Given the description of an element on the screen output the (x, y) to click on. 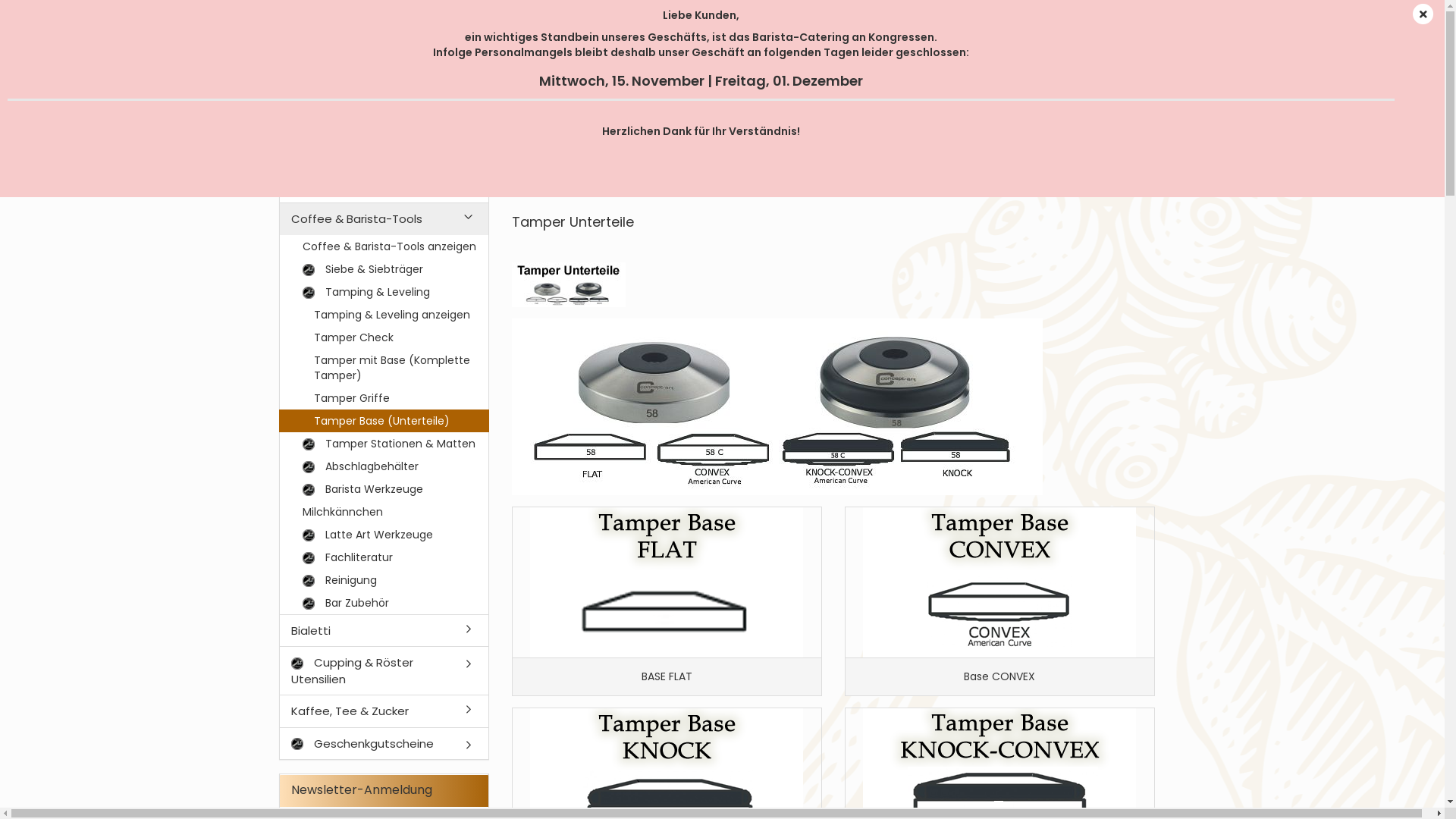
Reinigung Element type: text (383, 579)
Tamper Check Element type: text (383, 337)
Coffee & Barista-Tools Element type: text (383, 218)
Tamper Stationen & Matten Element type: text (383, 443)
GESCHENKGUTSCHEINE Element type: text (1071, 138)
Tamper Base (Unterteile) Element type: hover (568, 284)
Tamper mit Base (Komplette Tamper) Element type: text (383, 367)
Anmelden Element type: text (955, 185)
Startseite Element type: text (533, 181)
BASE FLAT Element type: text (666, 601)
Geschenkgutscheine Element type: text (383, 743)
Bialetti Element type: text (383, 630)
Coffee & Barista-Tools anzeigen Element type: text (383, 246)
BIALETTI Element type: text (638, 138)
Base CONVEX Element type: text (999, 601)
 Kundenlogin Element type: text (1037, 11)
Base CONVEX Element type: hover (998, 582)
Martin Stock Element type: hover (721, 83)
Latte Art Werkzeuge Element type: text (383, 534)
Warenkorb Element type: text (948, 11)
Tamper Griffe Element type: text (383, 397)
Coffee & Barista-Tools Element type: text (633, 181)
Tamping & Leveling Element type: text (383, 291)
BASE FLAT Element type: hover (666, 582)
Ihr Warenkorb
0,00 CHF Element type: text (1055, 75)
Barista Werkzeuge Element type: text (383, 488)
Kaffee, Tee & Zucker Element type: text (383, 710)
Tamping & Leveling anzeigen Element type: text (383, 314)
Tamping & Leveling Element type: text (757, 181)
COFFEE & BARISTA-TOOLS Element type: text (524, 138)
Fachliteratur Element type: text (383, 557)
Tamper Base (Unterteile) Element type: text (384, 420)
KAFFEE, TEE & ZUCKER Element type: text (928, 138)
 Merkzettel Element type: text (1125, 11)
